Given the description of an element on the screen output the (x, y) to click on. 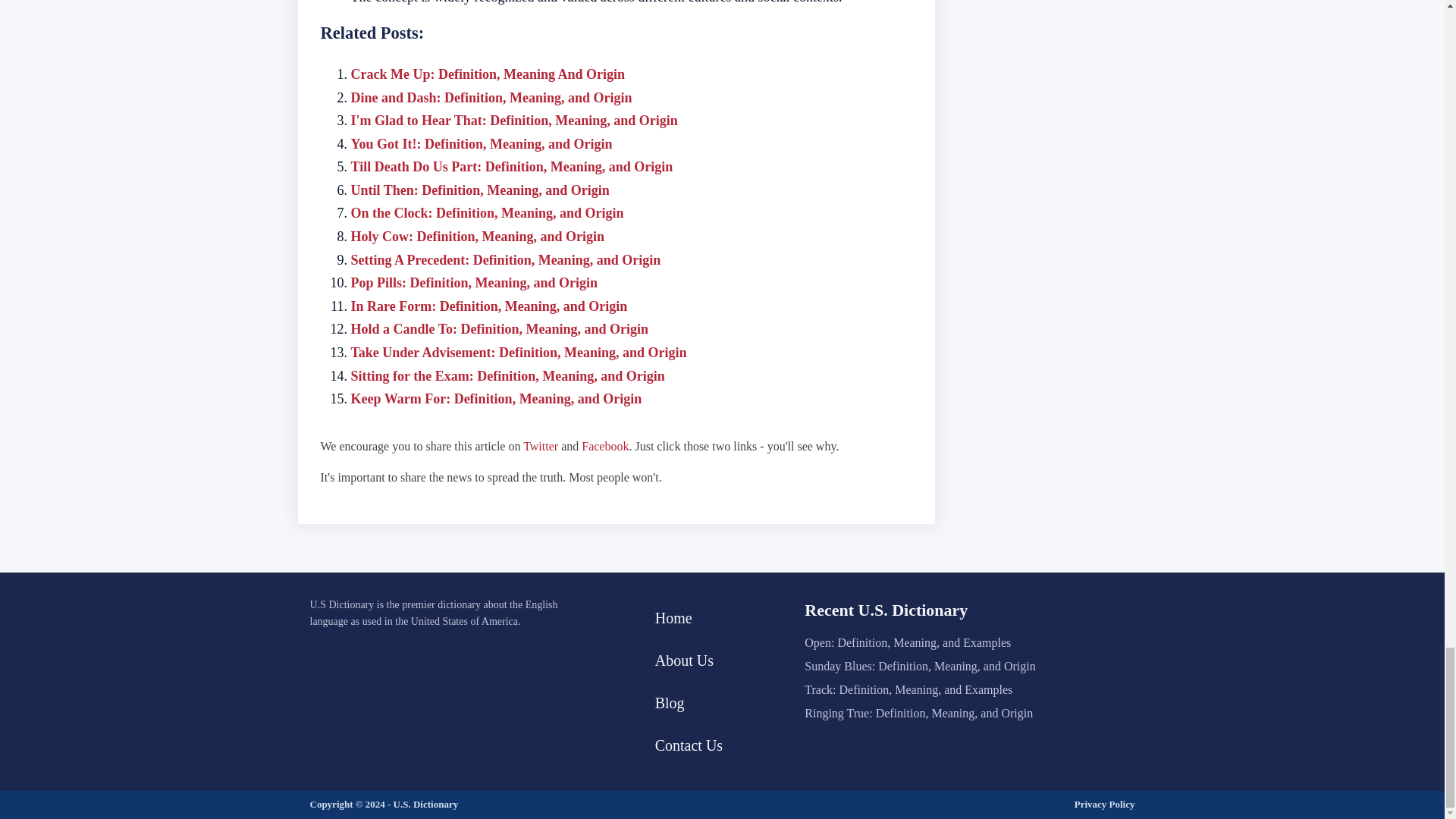
Holy Cow: Definition, Meaning, and Origin (477, 236)
Setting A Precedent: Definition, Meaning, and Origin (505, 259)
Hold a Candle To: Definition, Meaning, and Origin (498, 328)
Sitting for the Exam: Definition, Meaning, and Origin (506, 376)
Take Under Advisement: Definition, Meaning, and Origin (517, 352)
Setting A Precedent: Definition, Meaning, and Origin (505, 259)
Sitting for the Exam: Definition, Meaning, and Origin (506, 376)
Holy Cow: Definition, Meaning, and Origin (477, 236)
On the Clock: Definition, Meaning, and Origin (486, 212)
Twitter (539, 445)
Dine and Dash: Definition, Meaning, and Origin (490, 96)
Pop Pills: Definition, Meaning, and Origin (473, 282)
Take Under Advisement: Definition, Meaning, and Origin (517, 352)
In Rare Form: Definition, Meaning, and Origin (488, 305)
Facebook (604, 445)
